Given the description of an element on the screen output the (x, y) to click on. 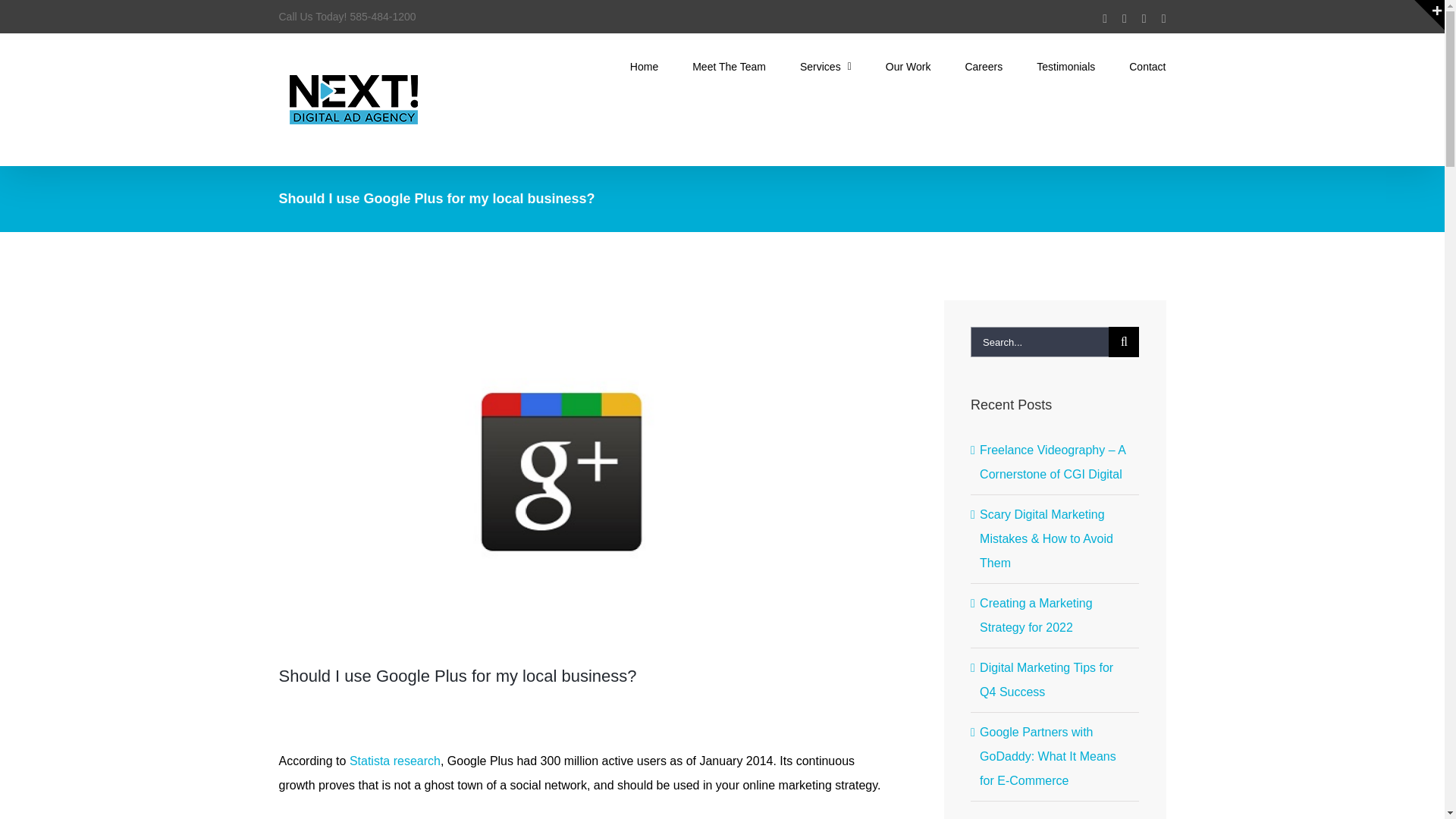
Meet The Team (729, 65)
Testimonials (1065, 65)
Statista research (395, 760)
Call Us Today! 585-484-1200 (347, 16)
